Given the description of an element on the screen output the (x, y) to click on. 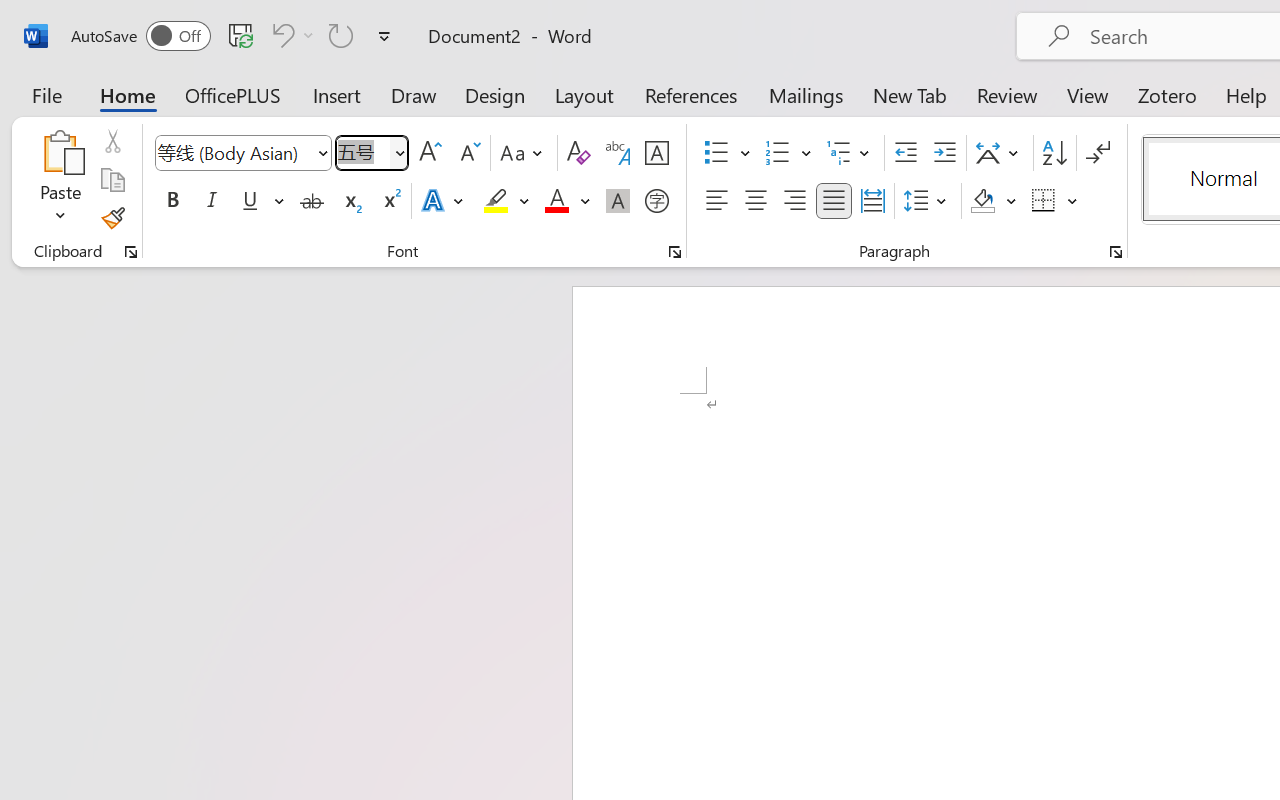
Increase Indent (944, 153)
Font Color Red (556, 201)
Distributed (872, 201)
Center (756, 201)
Enclose Characters... (656, 201)
Phonetic Guide... (618, 153)
Cut (112, 141)
Shading (993, 201)
Customize Quick Access Toolbar (384, 35)
Font Size (372, 153)
Font (242, 153)
Asian Layout (1000, 153)
Align Left (716, 201)
Character Shading (618, 201)
Text Highlight Color Yellow (495, 201)
